Given the description of an element on the screen output the (x, y) to click on. 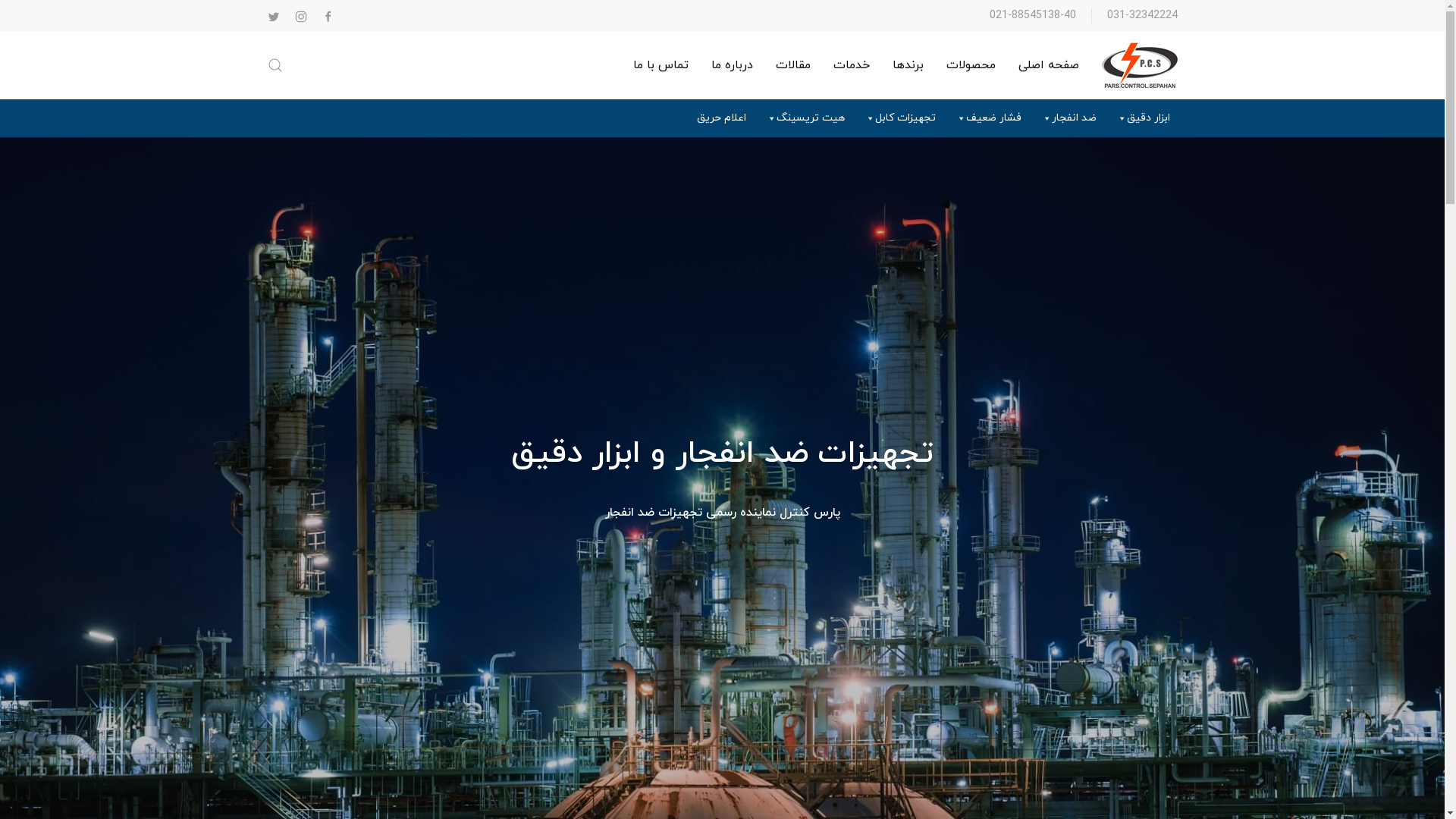
031-32342224 Element type: text (1142, 15)
021-88545138-40 Element type: text (1031, 15)
